Given the description of an element on the screen output the (x, y) to click on. 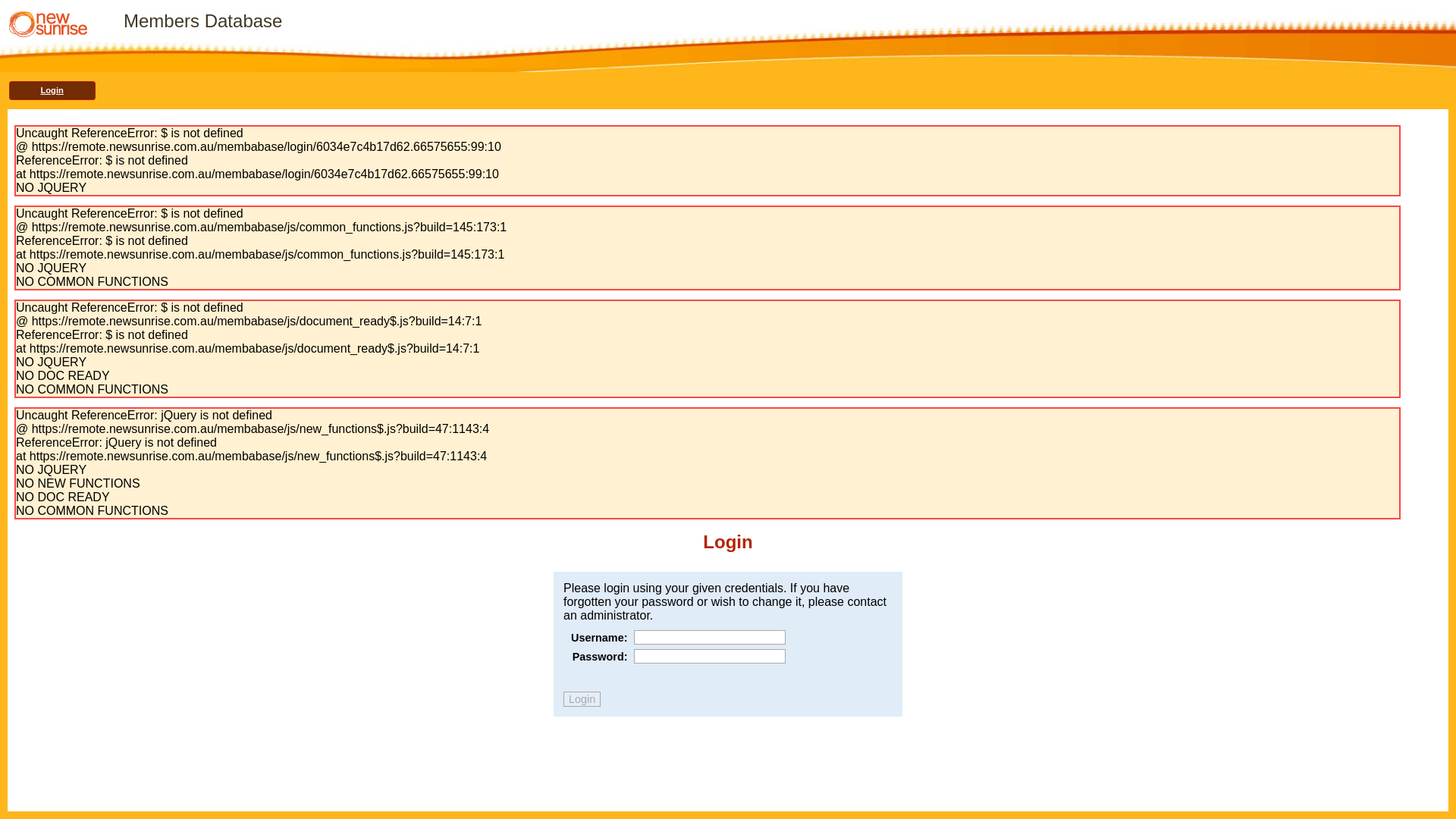
Login Element type: text (581, 698)
Login Element type: text (52, 90)
